Given the description of an element on the screen output the (x, y) to click on. 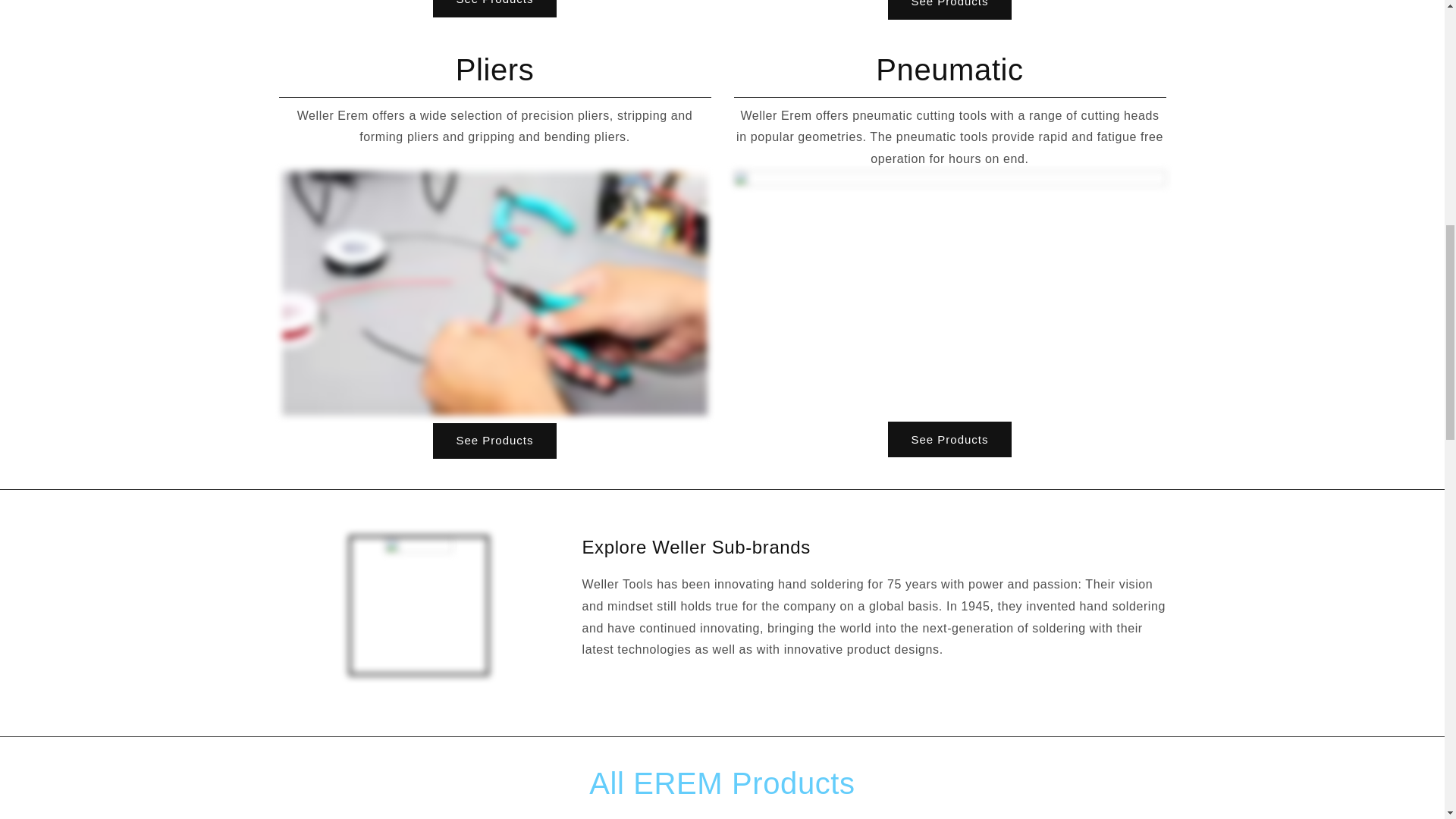
See Products (494, 440)
See Products (494, 8)
See Products (949, 9)
See Products (949, 439)
